Given the description of an element on the screen output the (x, y) to click on. 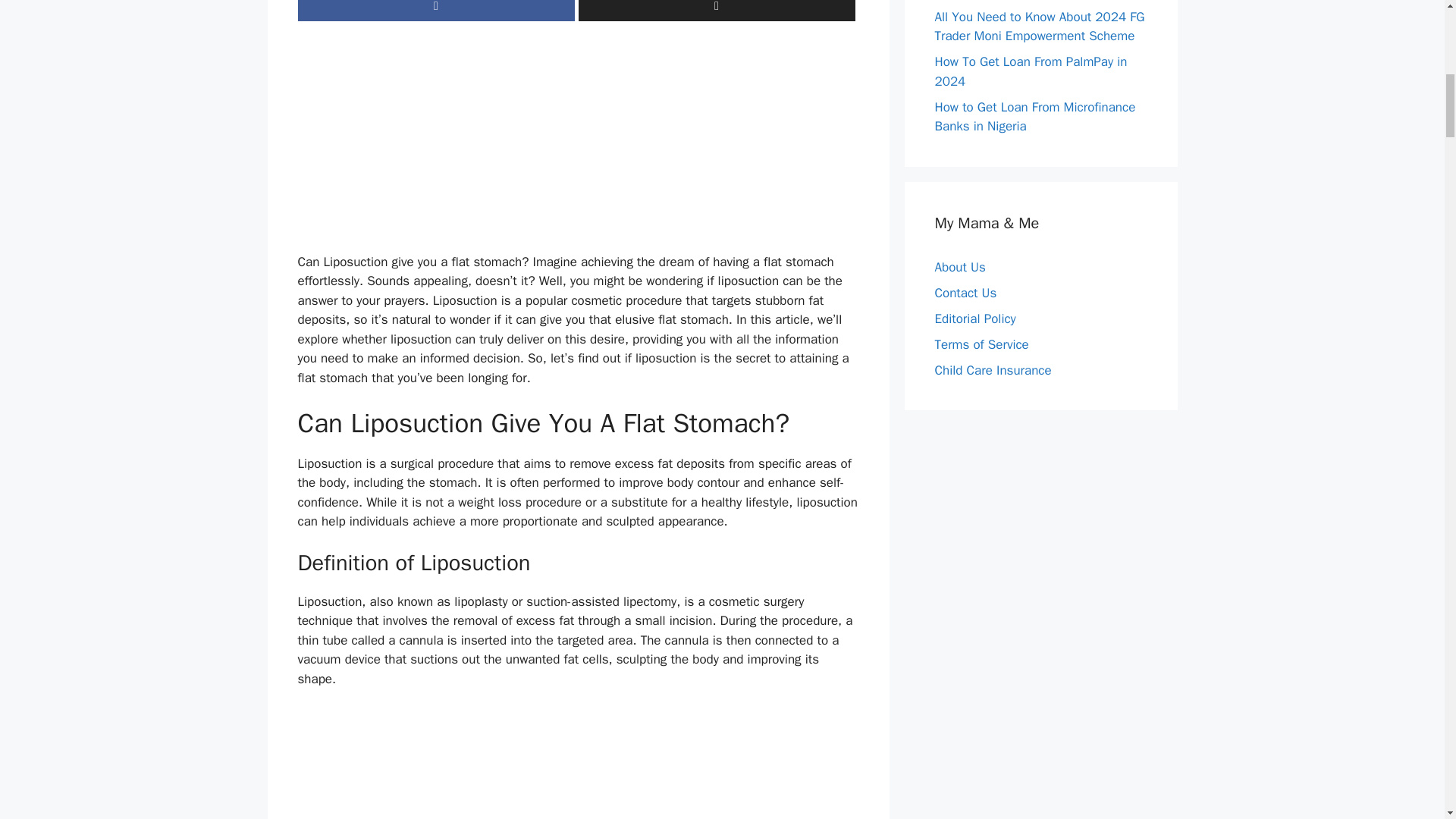
About Us (959, 267)
Advertisement (578, 763)
Advertisement (578, 146)
Contact Us (964, 293)
How To Get Loan From PalmPay in 2024 (1030, 71)
How to Get Loan From Microfinance Banks in Nigeria (1034, 116)
